Given the description of an element on the screen output the (x, y) to click on. 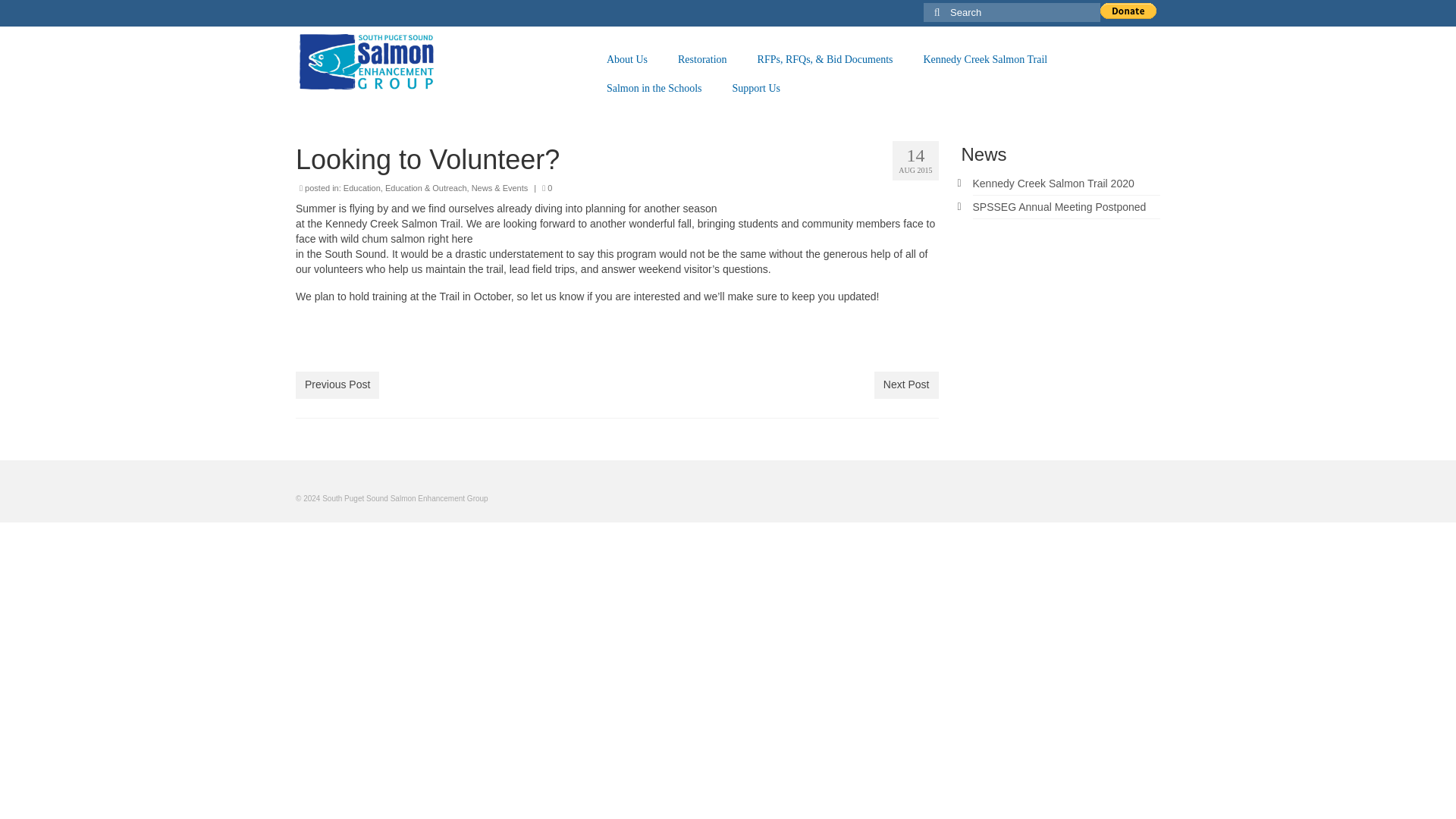
Kennedy Creek Salmon Trail (985, 59)
Next Post (907, 384)
Support Us (755, 88)
Education (361, 187)
About Us (626, 59)
Previous Post (336, 384)
SPSSEG Annual Meeting Postponed (1058, 206)
Salmon in the Schools (654, 88)
Kennedy Creek Salmon Trail 2020 (1053, 183)
Donate to South Puget Sound Salmon Enhancement Group (1128, 10)
Restoration (702, 59)
